Given the description of an element on the screen output the (x, y) to click on. 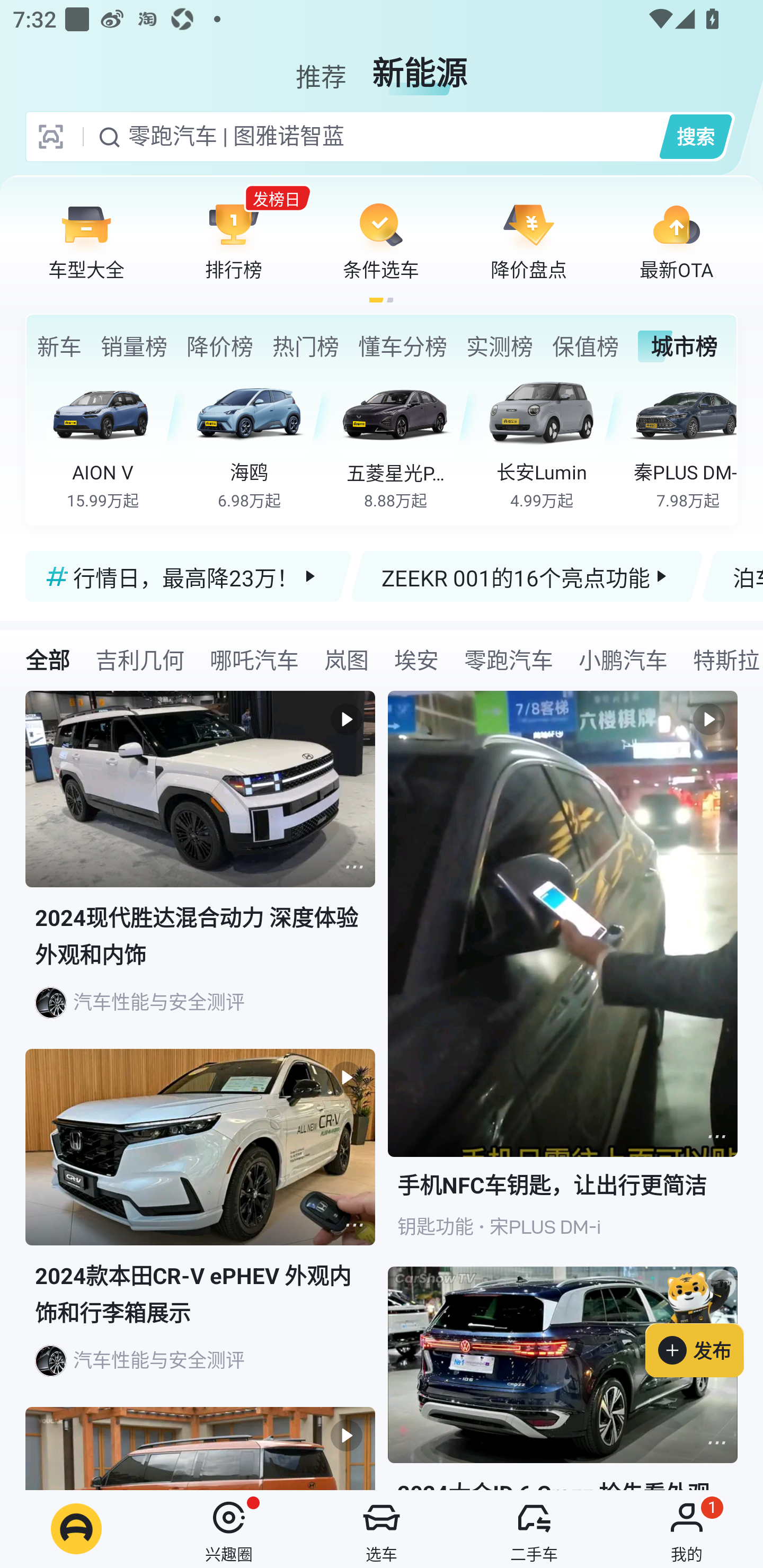
推荐 (321, 65)
新能源 (419, 65)
搜索 (695, 136)
车型大全 (86, 240)
发榜日 排行榜 (233, 240)
条件选车 (380, 240)
降价盘点 (528, 240)
最新OTA (676, 240)
新车 (59, 346)
销量榜 (133, 346)
降价榜 (219, 346)
热门榜 (305, 346)
懂车分榜 (402, 346)
实测榜 (499, 346)
保值榜 (585, 346)
城市榜 (677, 346)
AION V 15.99万起 (115, 442)
海鸥 6.98万起 (261, 442)
五菱星光PHEV 8.88万起 (407, 442)
长安Lumin 4.99万起 (554, 442)
秦PLUS DM-i 7.98万起 (683, 442)
行情日，最高降23万！ (188, 576)
ZEEKR 001的16个亮点功能 (526, 576)
全部 (47, 659)
吉利几何 (139, 659)
哪吒汽车 (253, 659)
岚图 (346, 659)
埃安 (416, 659)
零跑汽车 (508, 659)
小鹏汽车 (623, 659)
特斯拉 (721, 659)
  2024现代胜达混合动力 深度体验外观和内饰 汽车性能与安全测评 (200, 869)
  手机NFC车钥匙，让出行更简洁 钥匙功能 宋PLUS DM-i (562, 978)
 (354, 867)
  2024款本田CR-V ePHEV 外观内饰和行李箱展示 汽车性能与安全测评 (200, 1227)
 (716, 1136)
宋PLUS DM-i (545, 1226)
 (354, 1224)
发布 (704, 1320)
  2024大众ID.6 Crozz 抢先看外观和内饰 (562, 1377)
 (716, 1442)
 兴趣圈 (228, 1528)
 选车 (381, 1528)
 二手车 (533, 1528)
 我的 (686, 1528)
